Given the description of an element on the screen output the (x, y) to click on. 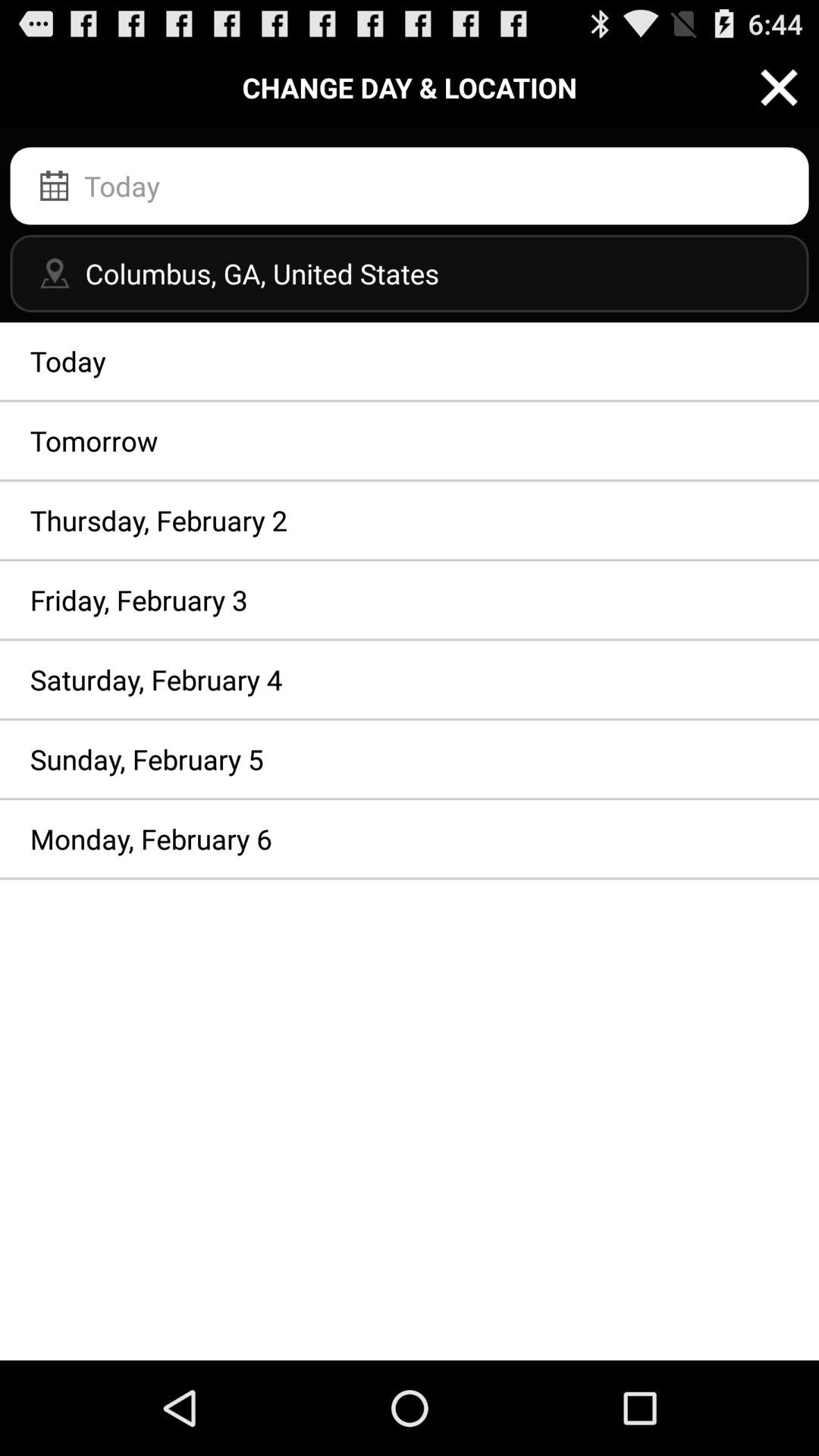
open today item (409, 360)
